Given the description of an element on the screen output the (x, y) to click on. 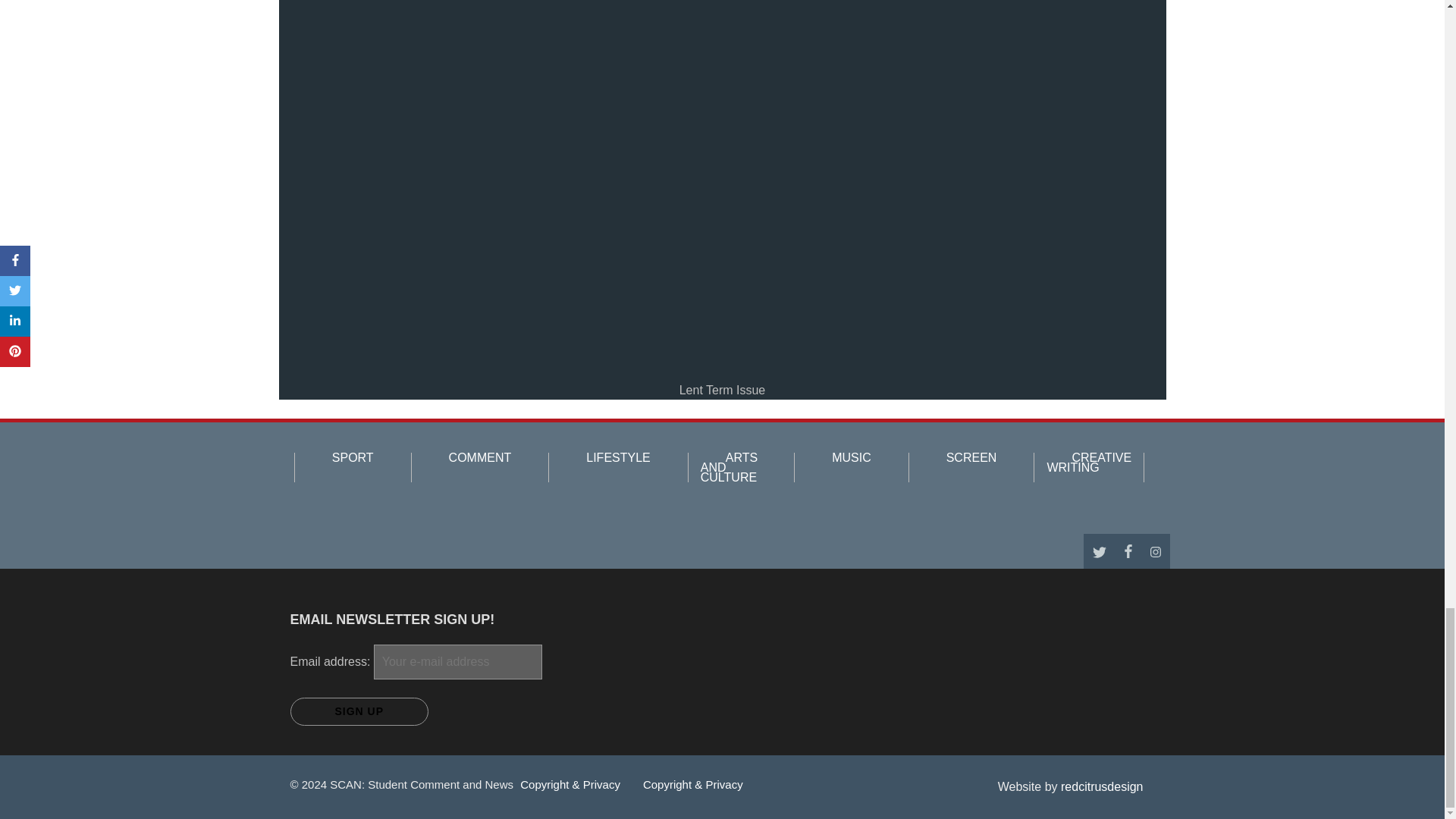
Sign up (358, 711)
